Given the description of an element on the screen output the (x, y) to click on. 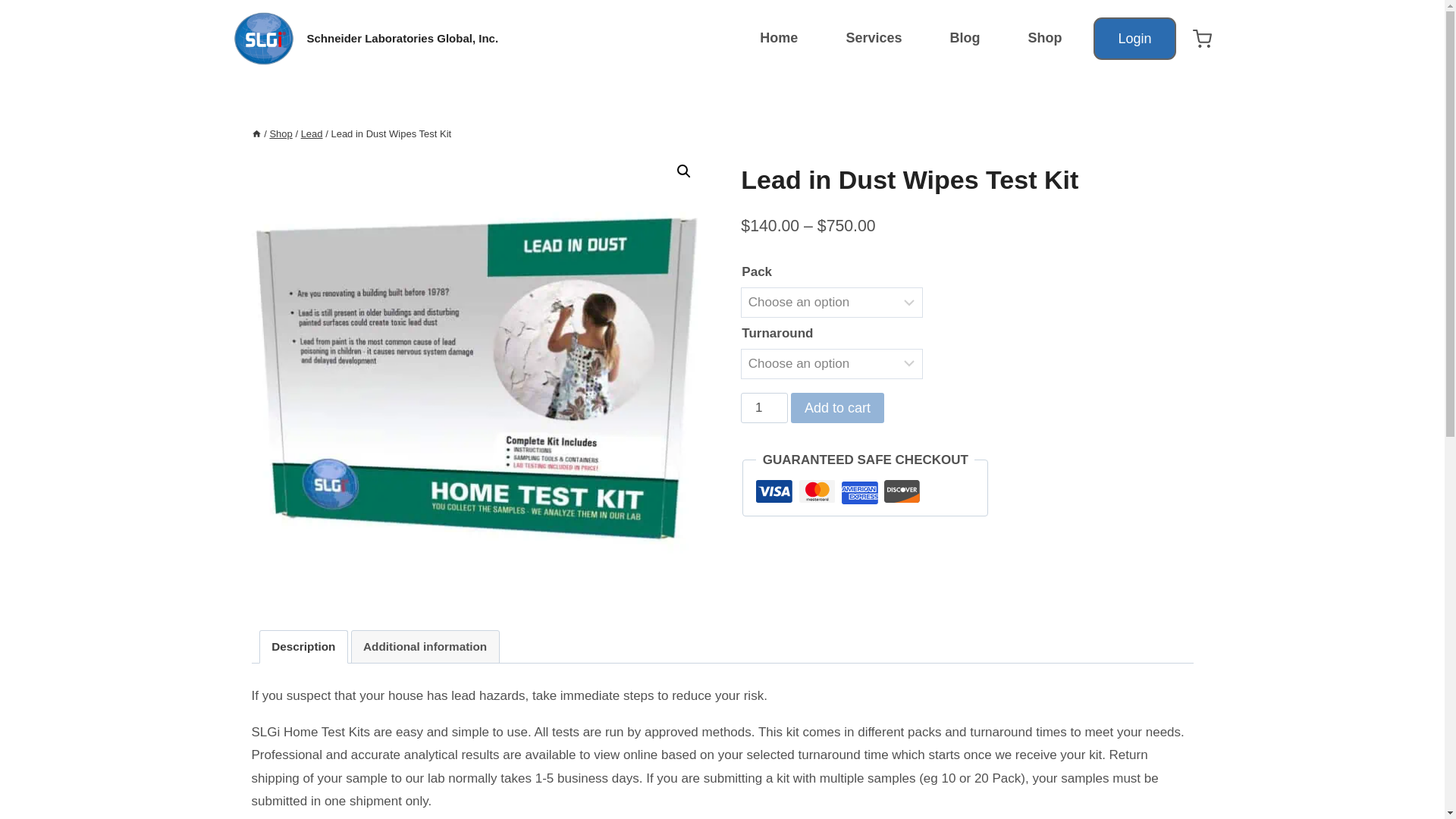
Schneider Laboratories Global, Inc. (365, 38)
Blog (965, 38)
Add to cart (836, 408)
Login (1133, 38)
Description (303, 646)
Lead (312, 133)
Services (874, 38)
Shop (1045, 38)
Home (779, 38)
